Given the description of an element on the screen output the (x, y) to click on. 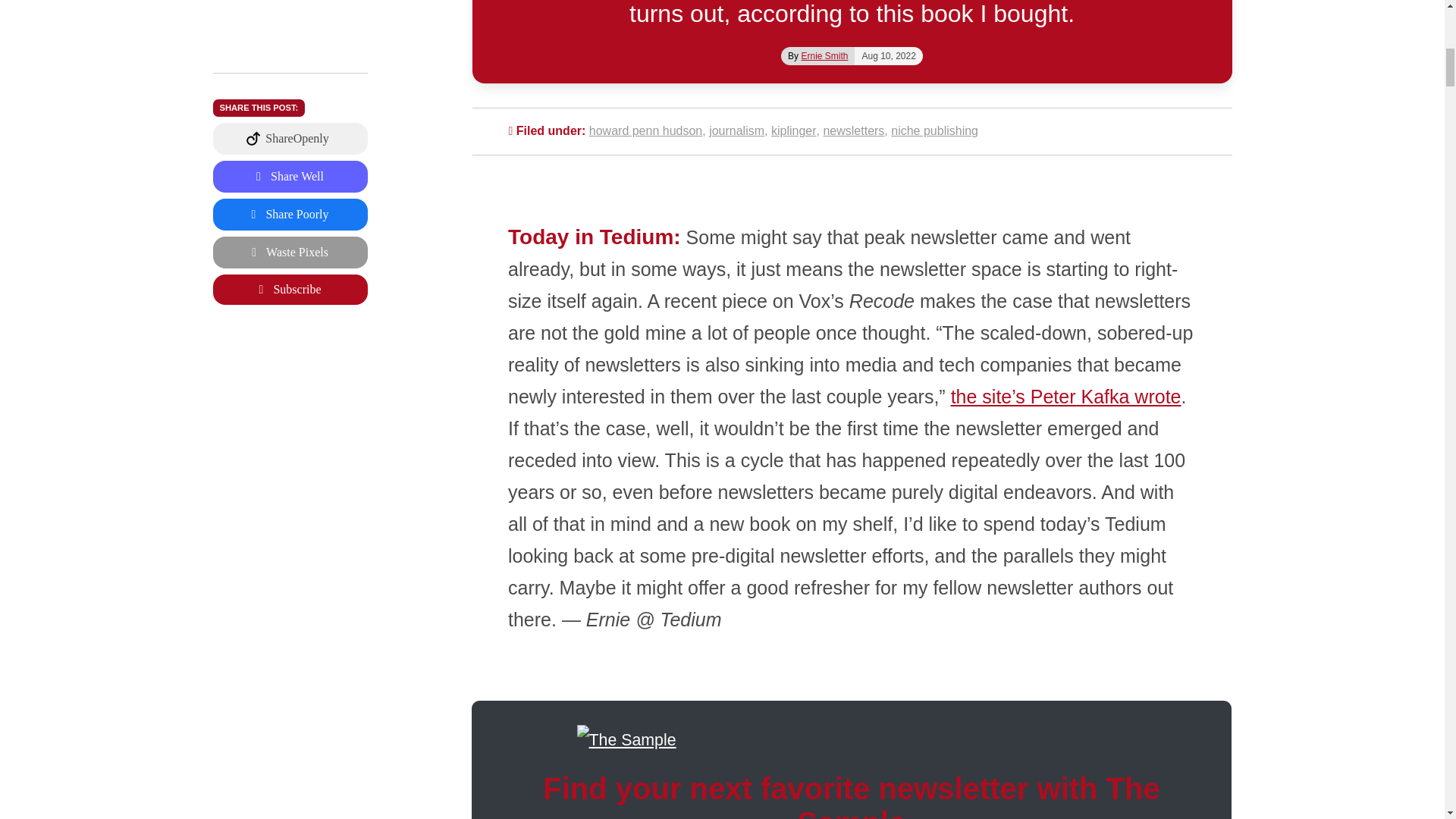
niche publishing (934, 130)
kiplinger (793, 130)
howard penn hudson (645, 130)
Share Well (289, 17)
Share Poorly (289, 55)
.is-facebook (289, 55)
newsletters (852, 130)
.is-mastodon (289, 17)
Ernie Smith (823, 55)
Subscribe (289, 130)
